Given the description of an element on the screen output the (x, y) to click on. 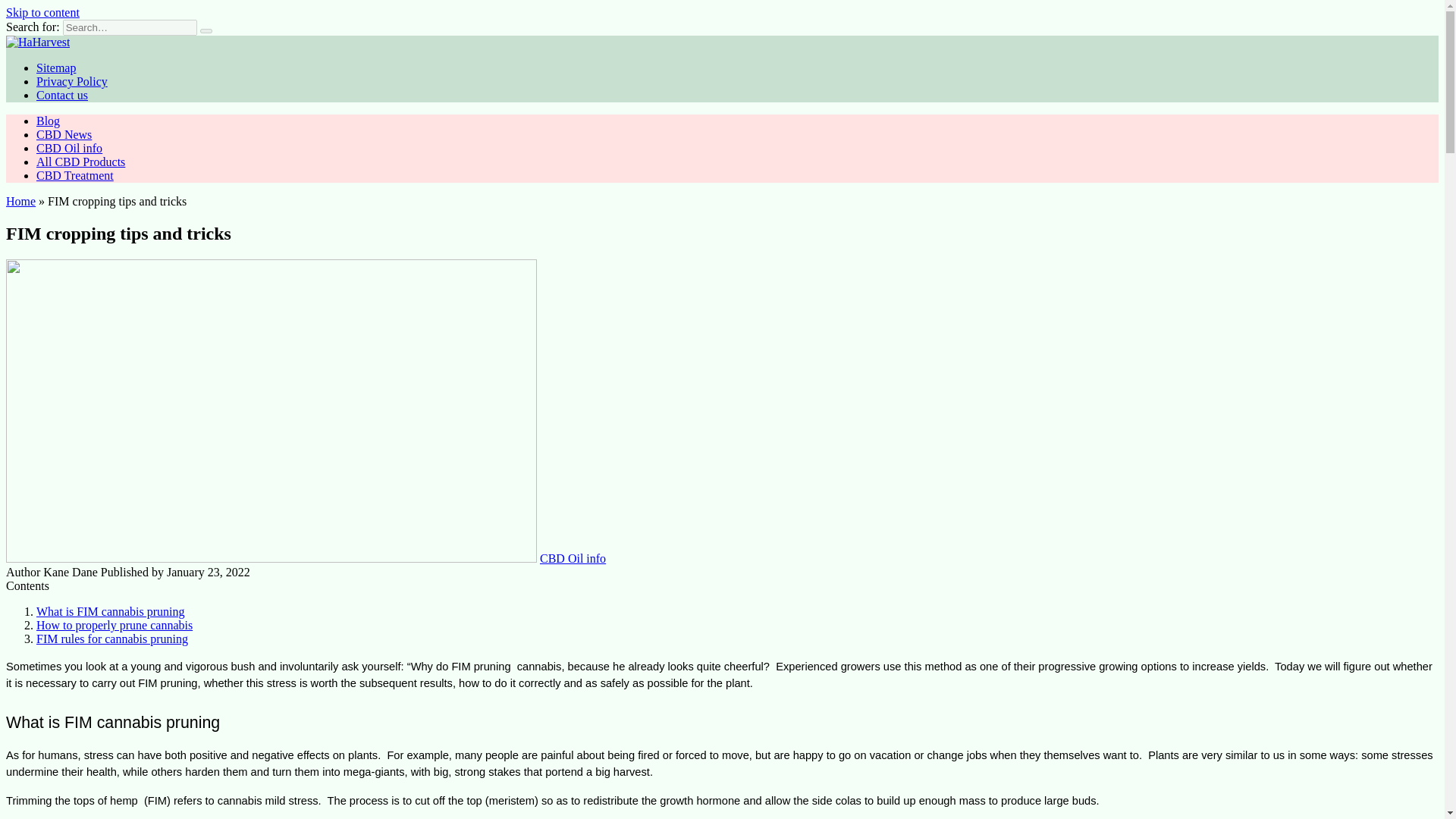
Privacy Policy (71, 81)
Sitemap (55, 67)
Contact us (61, 94)
How to properly prune cannabis (114, 625)
Blog (47, 120)
Home (19, 201)
Skip to content (42, 11)
FIM rules for cannabis pruning (111, 638)
CBD News (63, 133)
CBD Treatment (74, 174)
